Given the description of an element on the screen output the (x, y) to click on. 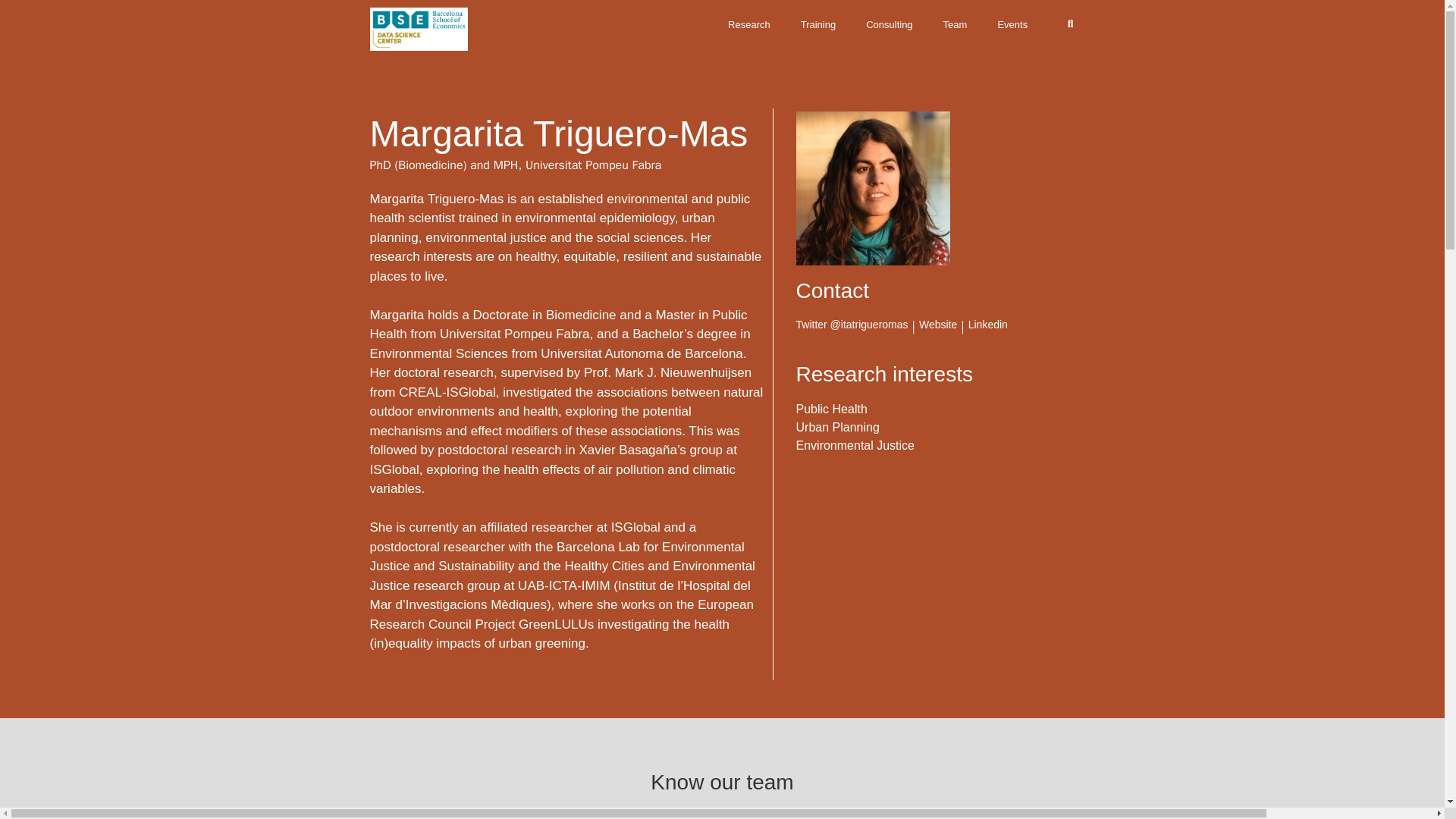
Events (1011, 8)
Training (818, 24)
Events (1011, 24)
Research (749, 8)
Team (955, 24)
Team (955, 8)
Research (749, 24)
Consulting (888, 8)
Consulting (888, 24)
Training (818, 8)
